Given the description of an element on the screen output the (x, y) to click on. 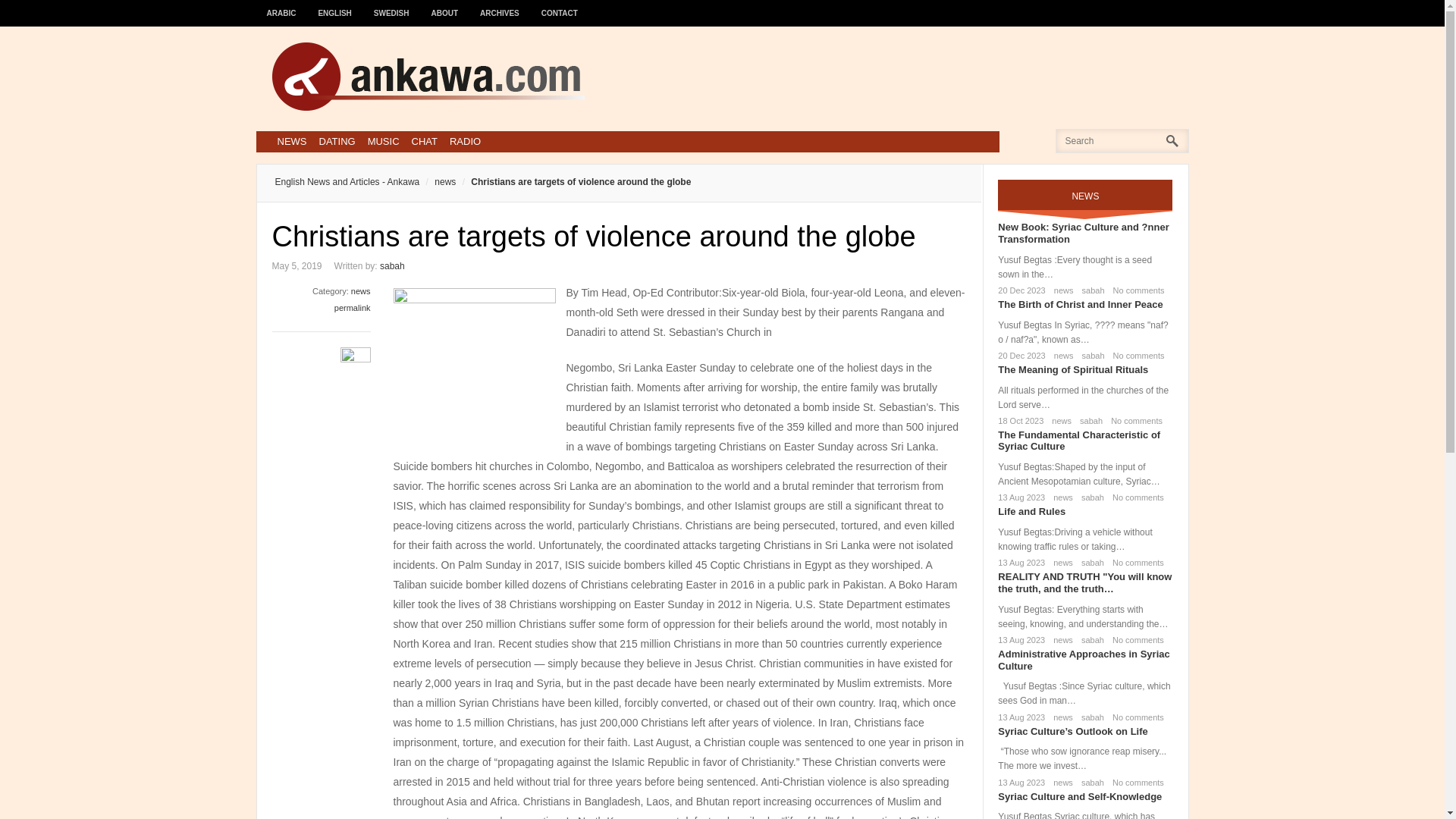
sabah (392, 266)
The Birth of Christ and Inner Peace (1079, 304)
ENGLISH (334, 5)
news (360, 290)
The Fundamental Characteristic of Syriac Culture (1078, 440)
Life and Rules (1031, 511)
news (1061, 355)
DATING (337, 141)
Administrative Approaches in Syriac Culture (1083, 659)
View all posts by sabah (392, 266)
No comments (1134, 562)
New Book: Syriac Culture and ?nner Transformation (1083, 232)
No comments (1134, 497)
English News and Articles - Ankawa (347, 181)
